Given the description of an element on the screen output the (x, y) to click on. 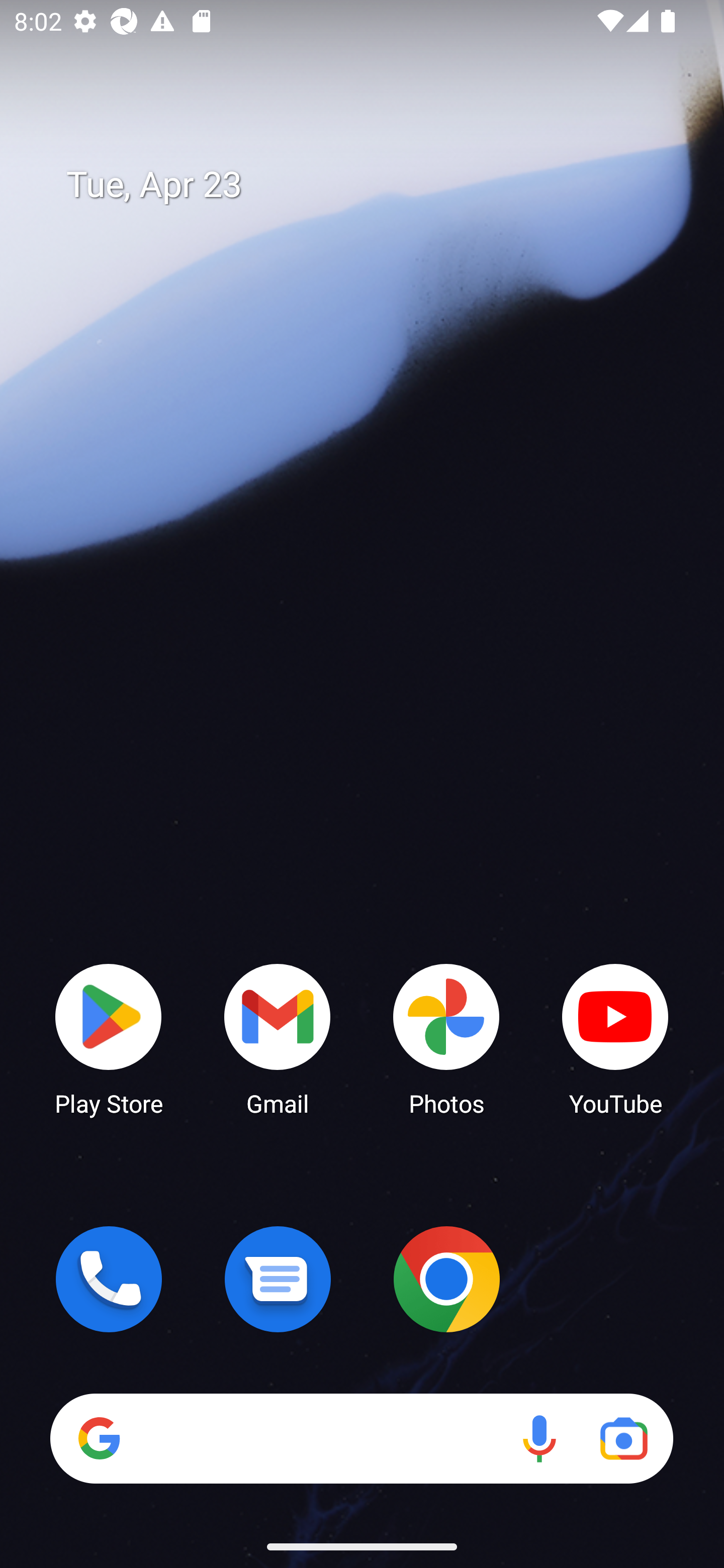
Tue, Apr 23 (375, 184)
Play Store (108, 1038)
Gmail (277, 1038)
Photos (445, 1038)
YouTube (615, 1038)
Phone (108, 1279)
Messages (277, 1279)
Chrome (446, 1279)
Search Voice search Google Lens (361, 1438)
Voice search (539, 1438)
Google Lens (623, 1438)
